Given the description of an element on the screen output the (x, y) to click on. 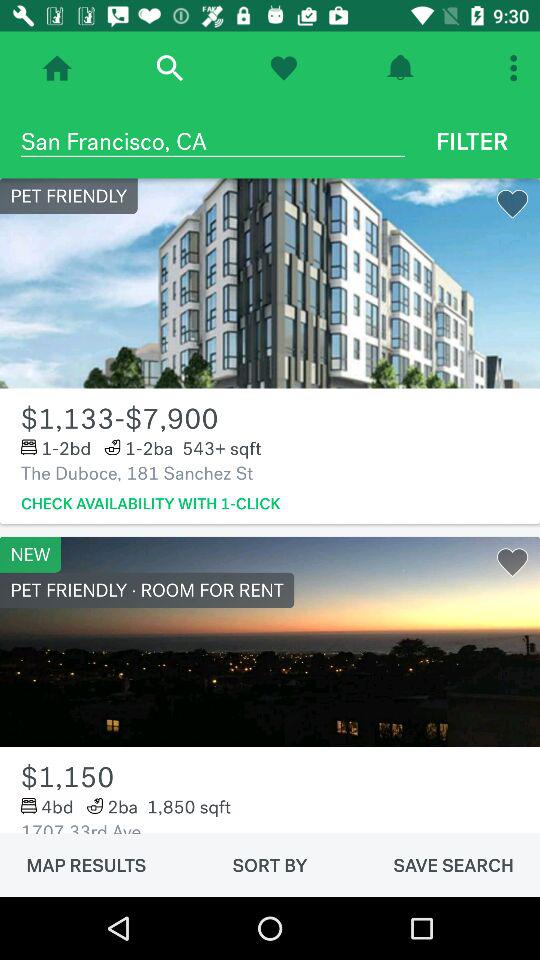
tap the item to the left of sort by (85, 865)
